Given the description of an element on the screen output the (x, y) to click on. 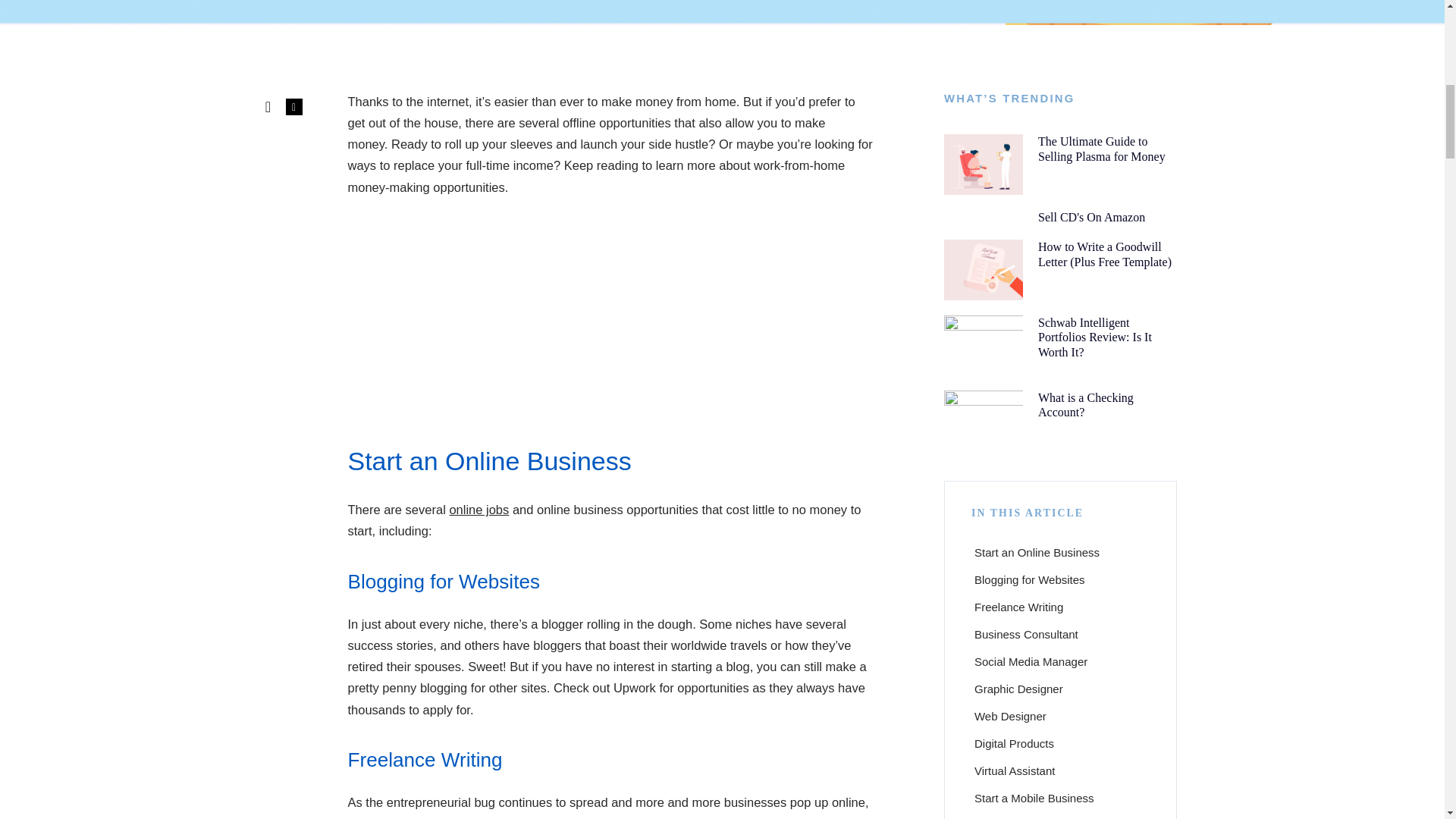
The Ultimate Guide to Selling Plasma for Money (1102, 148)
Schwab Intelligent Portfolios Review: Is It Worth It? (1094, 337)
Sell CD's On Amazon (1091, 216)
online jobs (478, 509)
What is a Checking Account? (1086, 405)
